Given the description of an element on the screen output the (x, y) to click on. 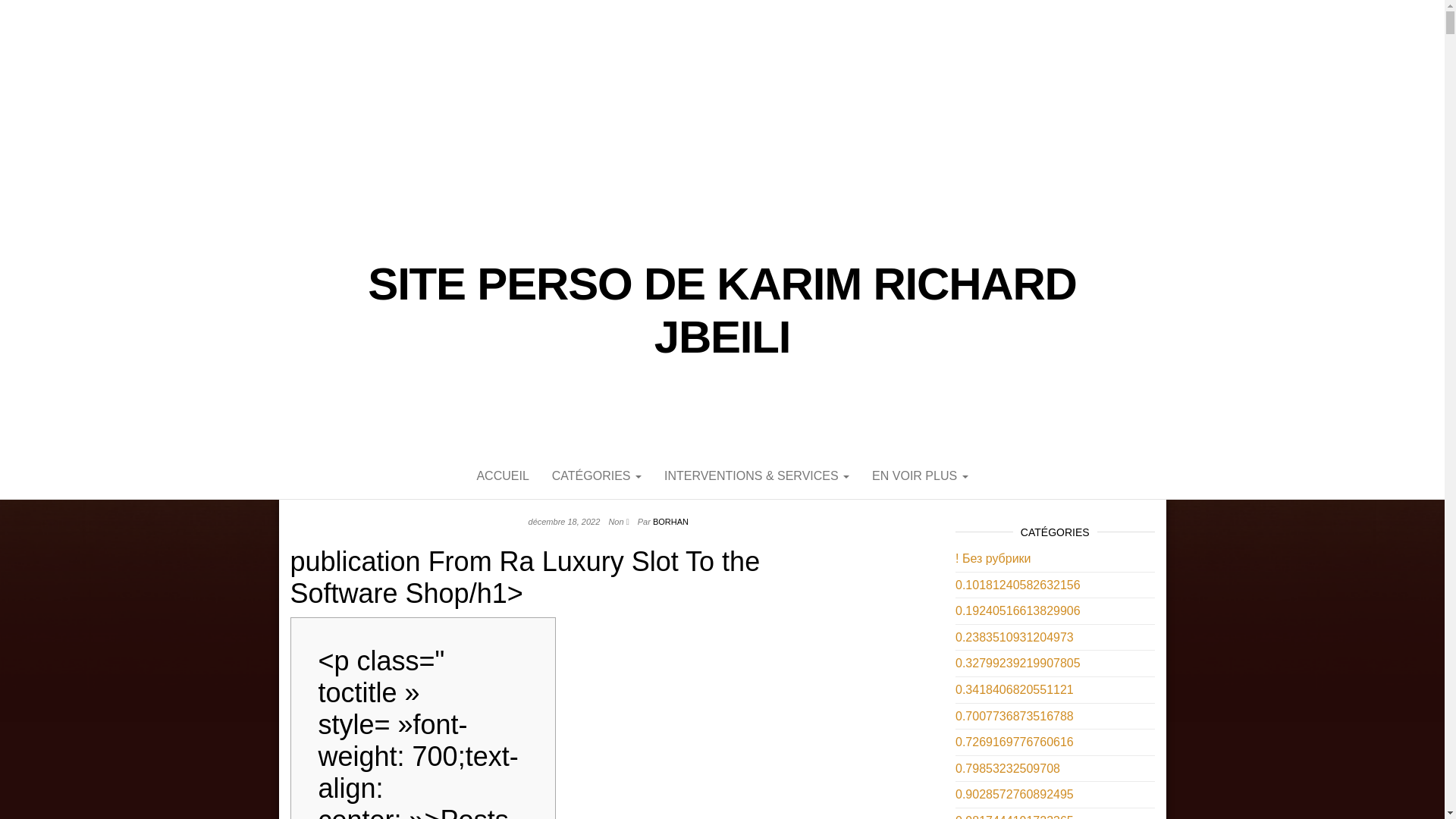
0.9817444191723365 (1014, 816)
0.32799239219907805 (1017, 662)
0.7007736873516788 (1014, 716)
0.2383510931204973 (1014, 636)
SITE PERSO DE KARIM RICHARD JBEILI (721, 310)
0.7269169776760616 (1014, 741)
ACCUEIL (502, 475)
EN VOIR PLUS (919, 475)
EN VOIR PLUS (919, 475)
0.79853232509708 (1007, 768)
